Given the description of an element on the screen output the (x, y) to click on. 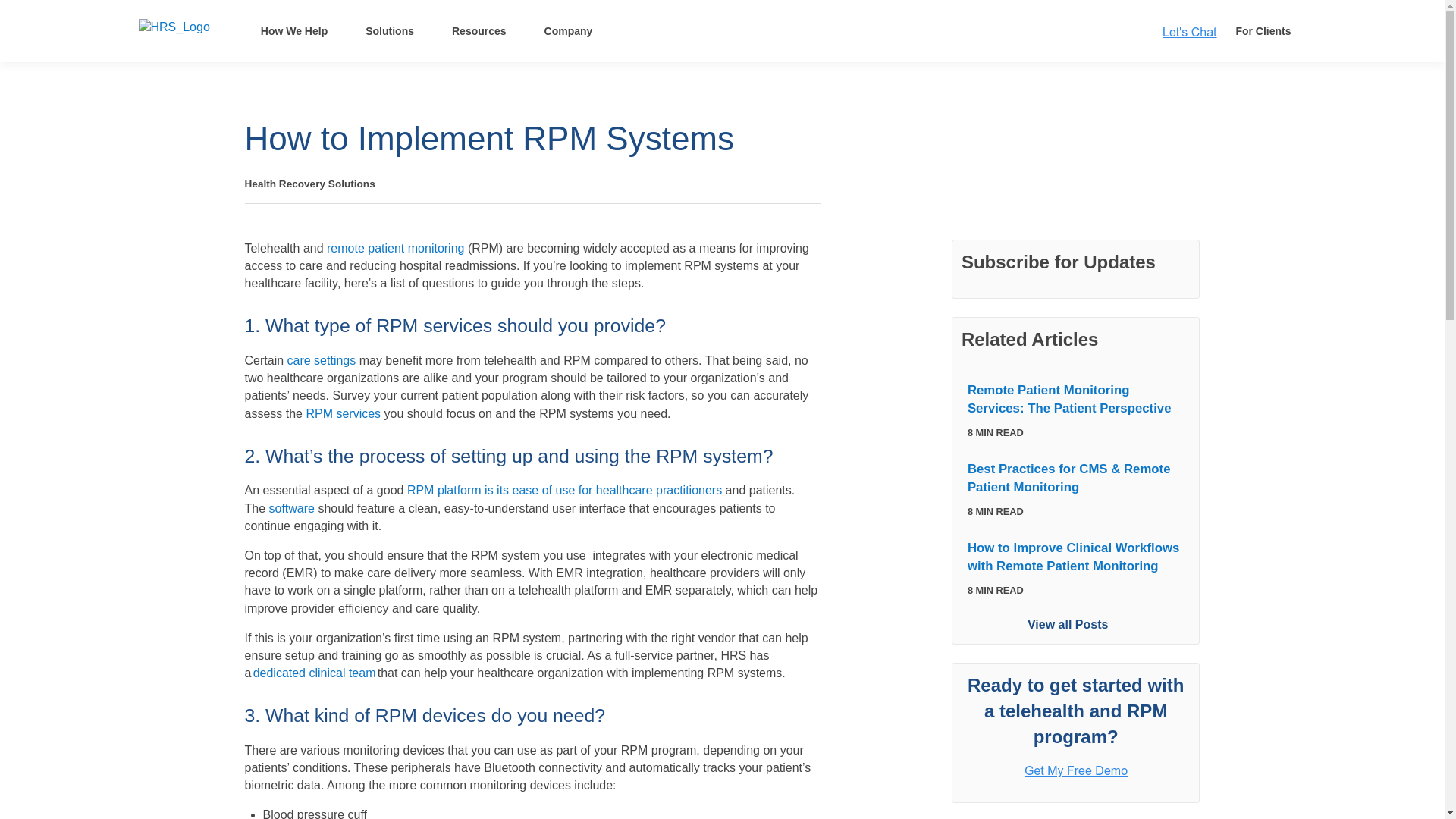
Resources (478, 30)
Solutions (389, 30)
How We Help (293, 30)
